Given the description of an element on the screen output the (x, y) to click on. 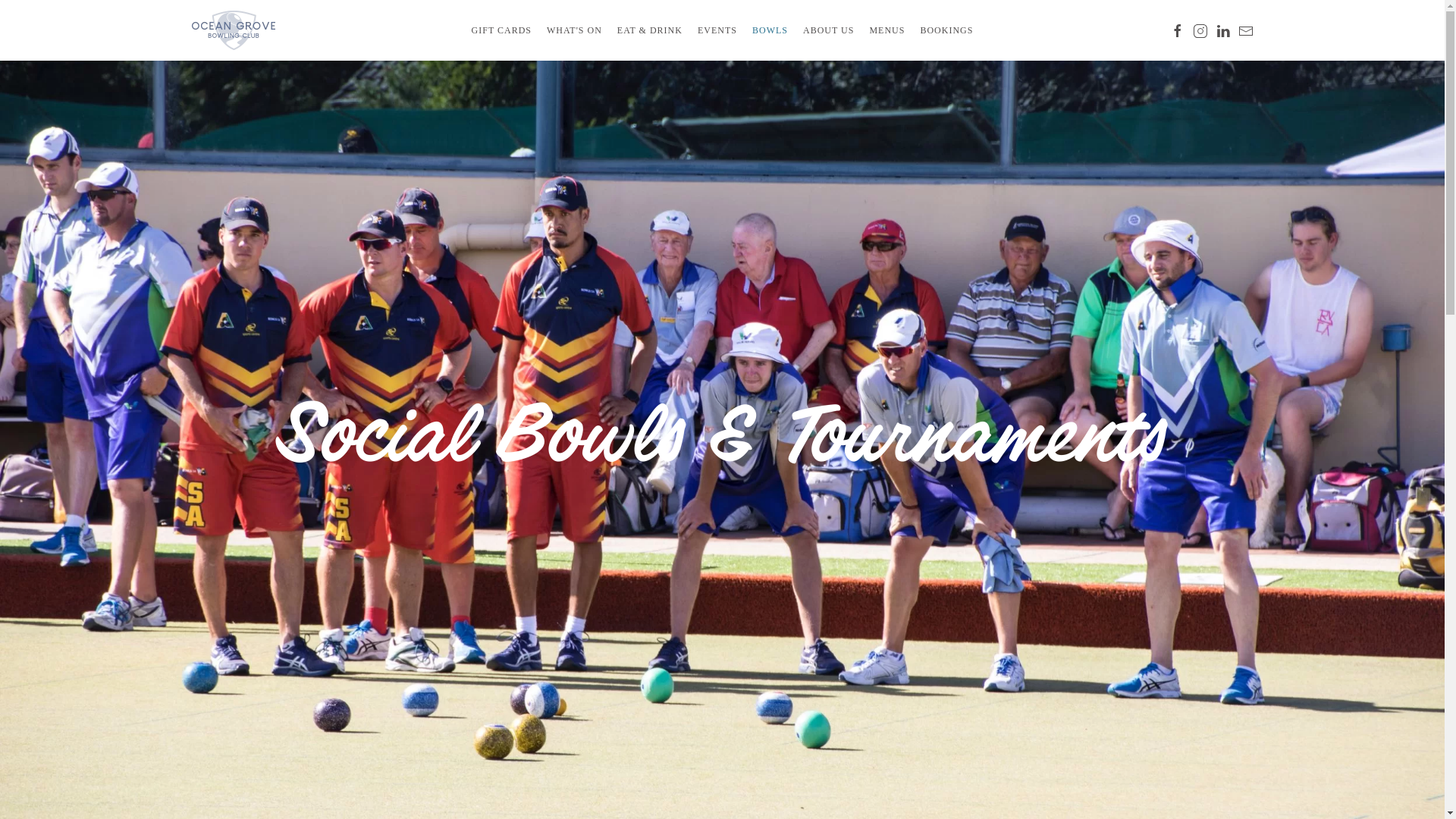
WHAT'S ON (574, 30)
ABOUT US (828, 30)
BOWLS (769, 30)
EVENTS (716, 30)
GIFT CARDS (501, 30)
